Given the description of an element on the screen output the (x, y) to click on. 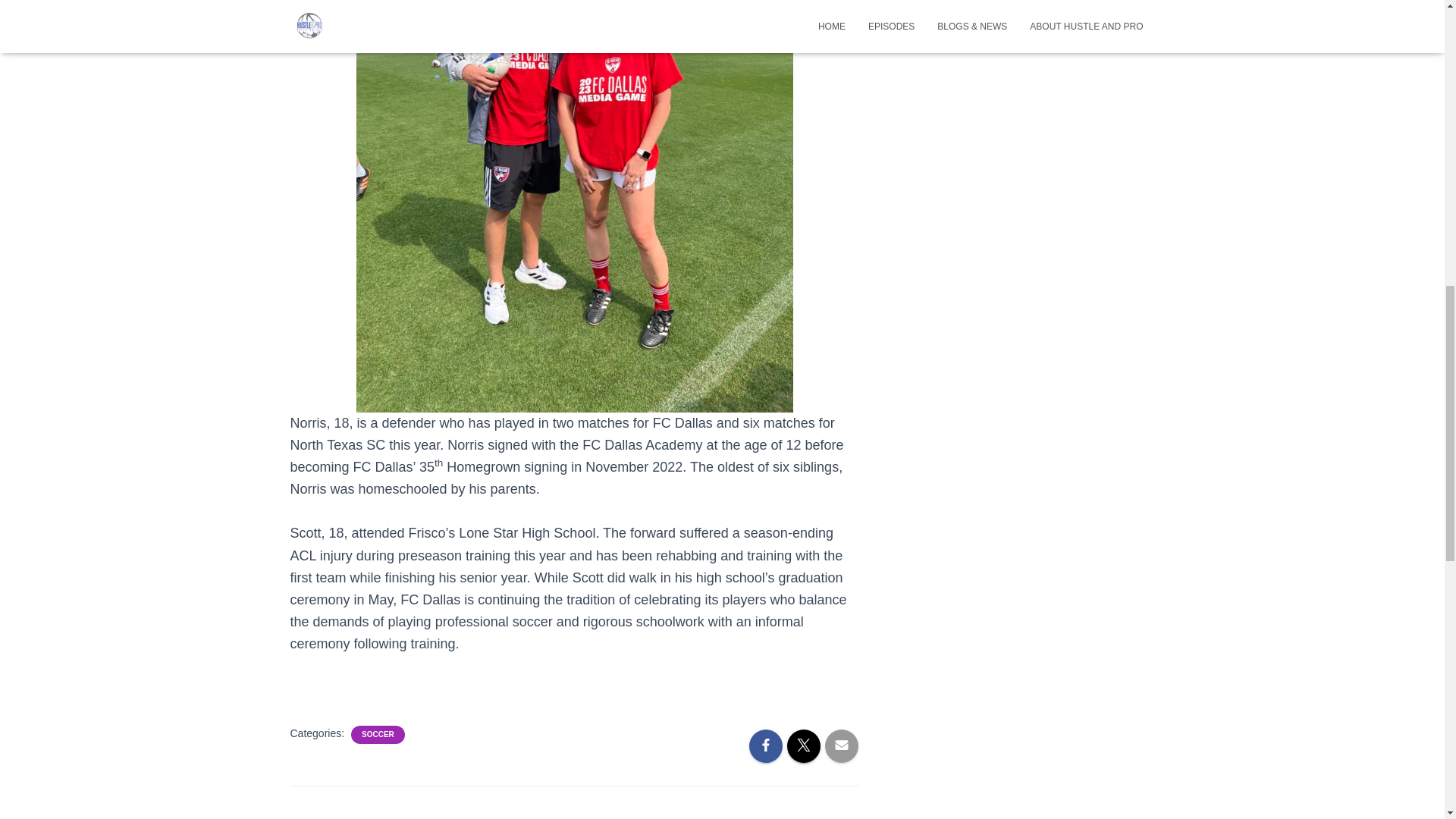
SOCCER (377, 734)
